Given the description of an element on the screen output the (x, y) to click on. 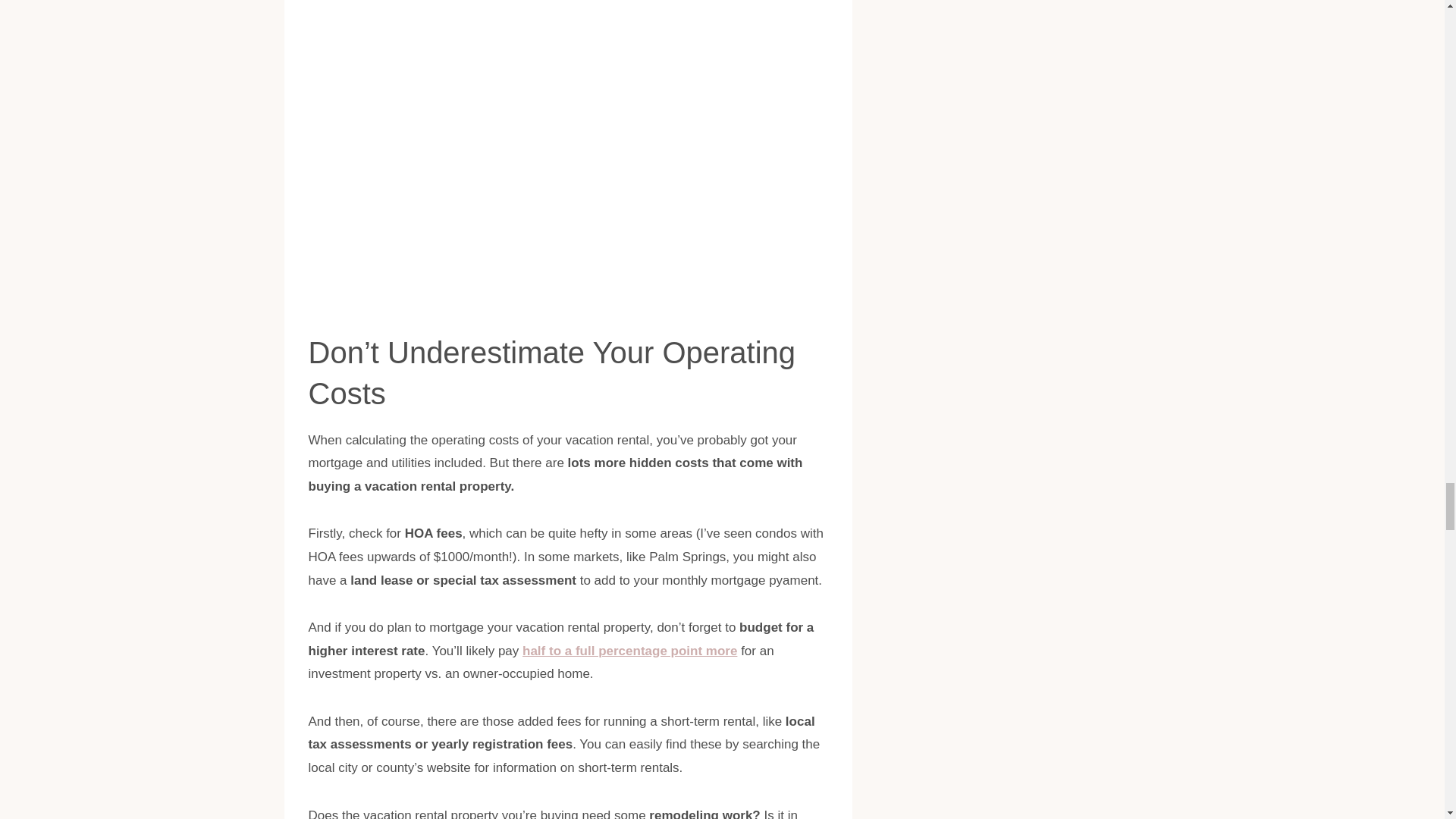
half to a full percentage point more (629, 650)
